Given the description of an element on the screen output the (x, y) to click on. 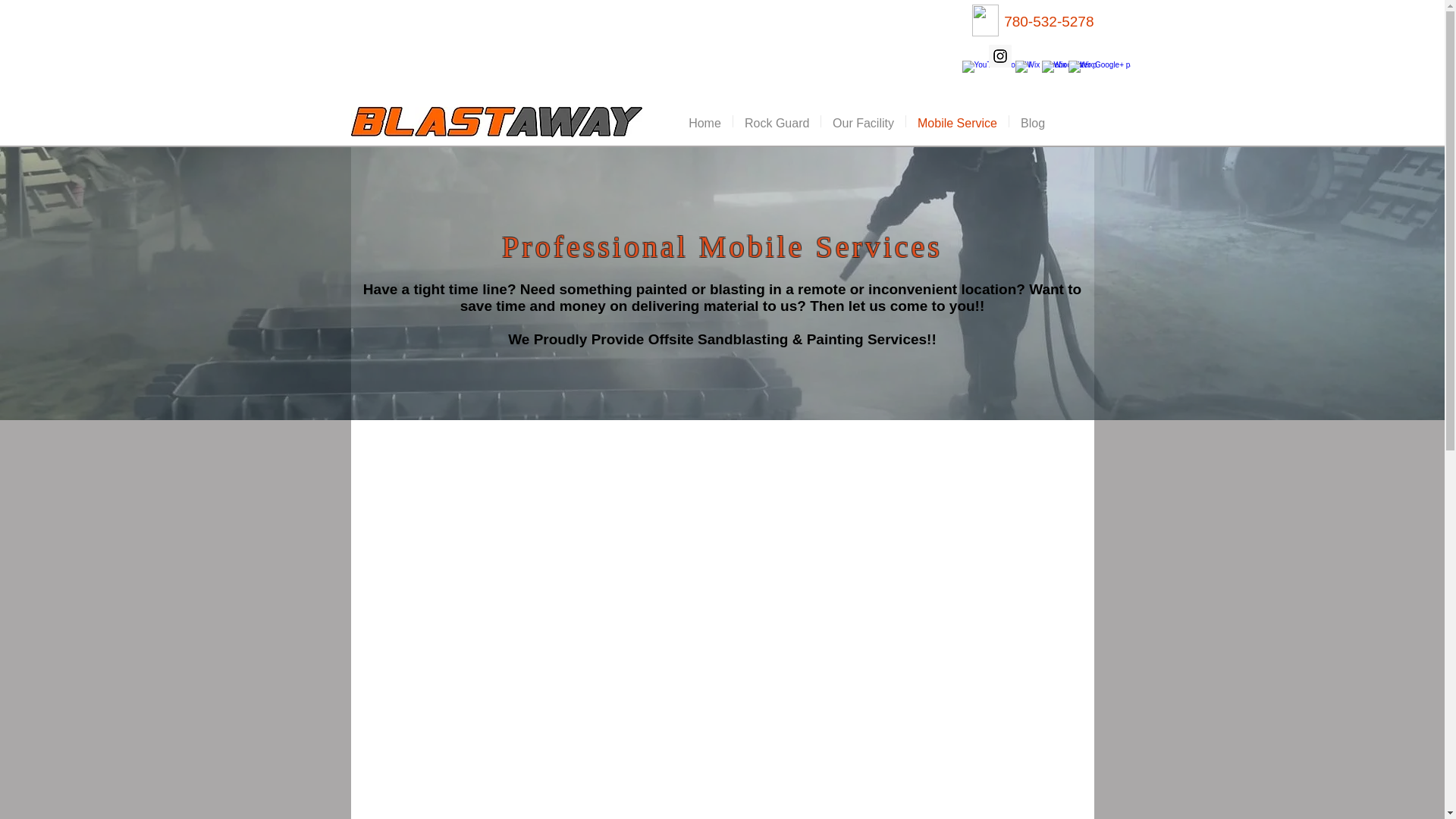
Blog (1033, 121)
Rock Guard (777, 121)
Our Facility (863, 121)
Mobile Service (957, 121)
Blastaway.jpg (496, 121)
Home (704, 121)
